Given the description of an element on the screen output the (x, y) to click on. 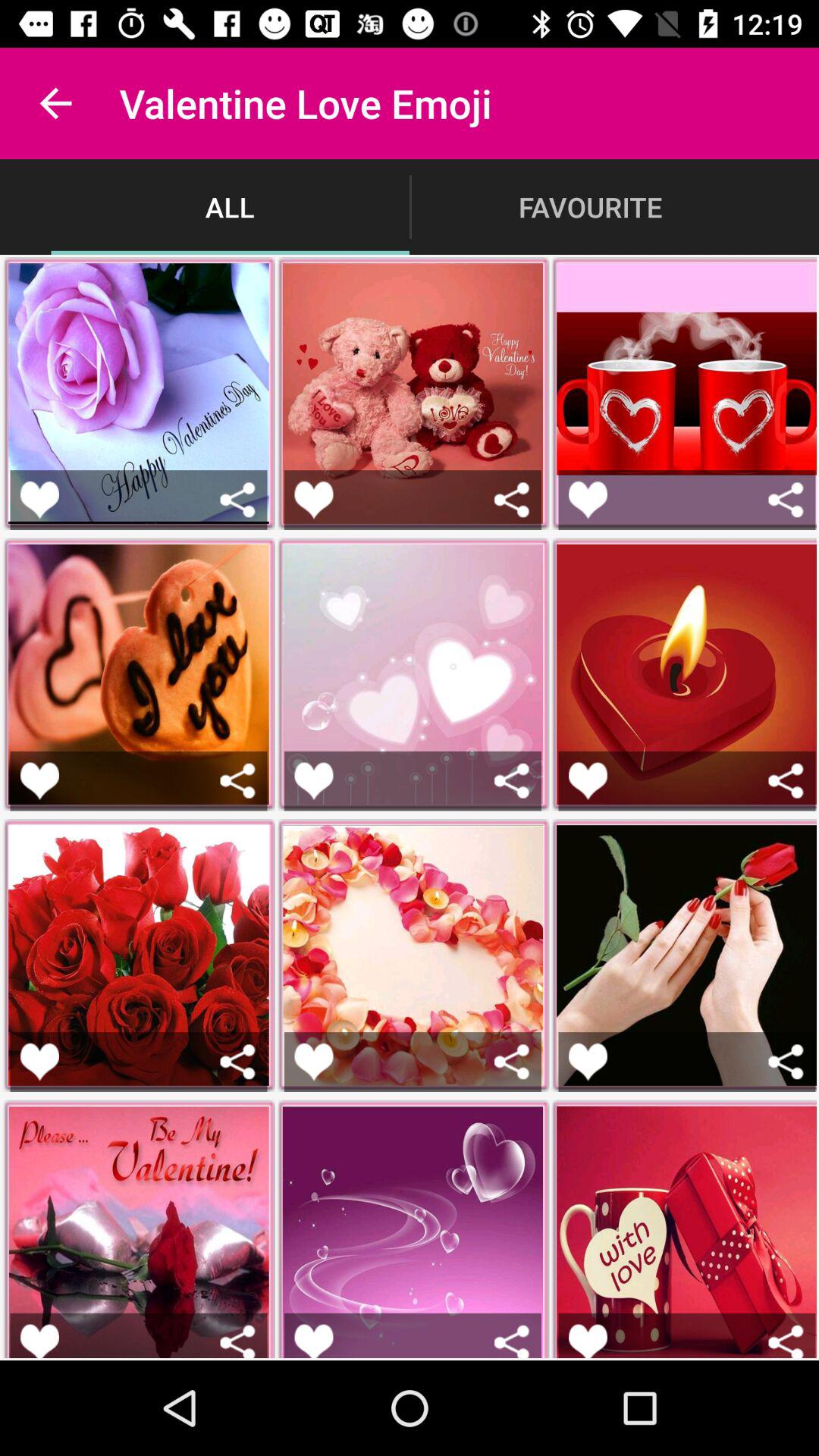
sharing options (785, 499)
